Given the description of an element on the screen output the (x, y) to click on. 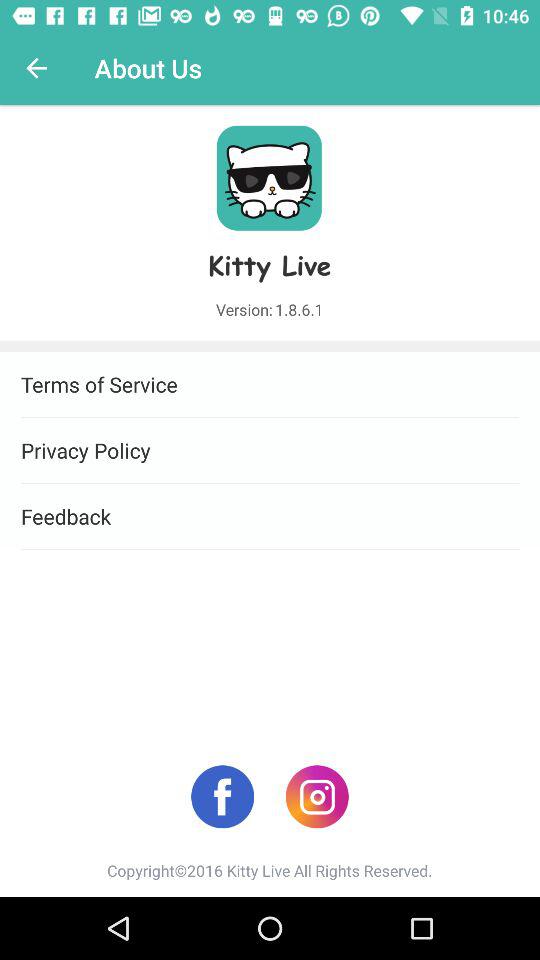
click the item next to about us (36, 68)
